Given the description of an element on the screen output the (x, y) to click on. 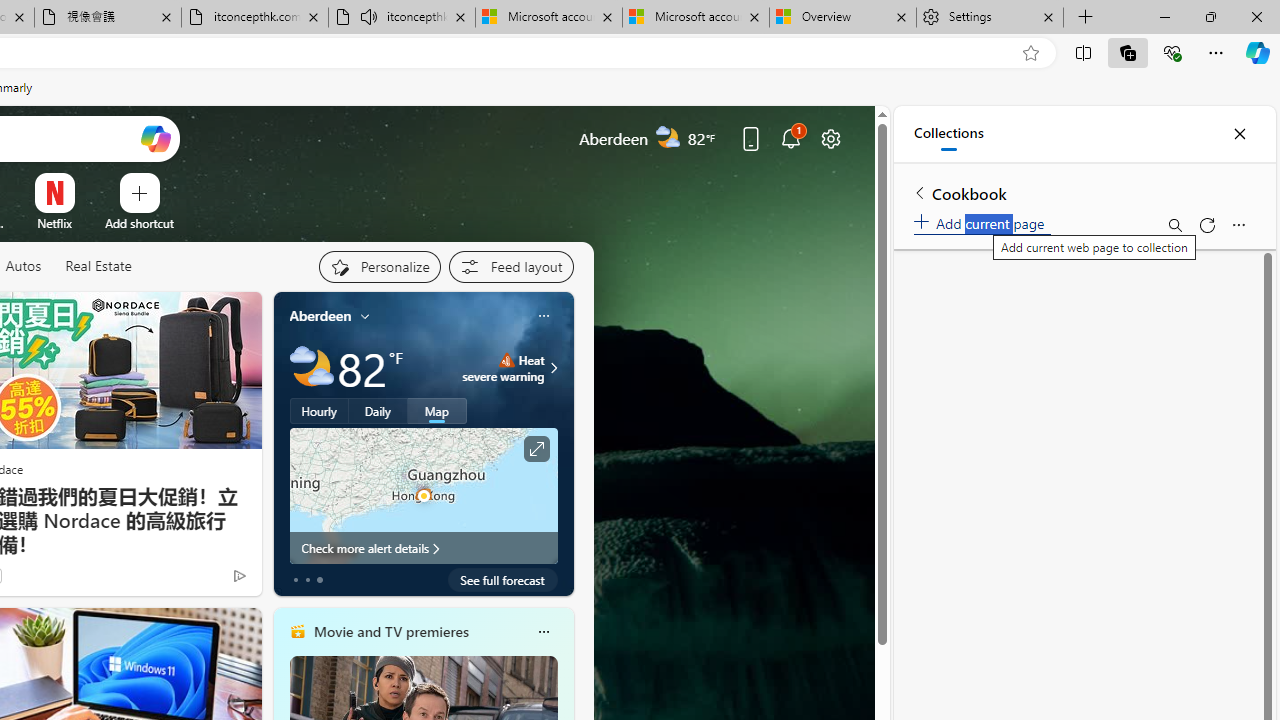
Click to see more information (536, 449)
Larger map  (423, 495)
tab-2 (319, 579)
Heat - Severe Heat severe warning (503, 367)
Check more alert details (423, 547)
Aberdeen (320, 315)
More options menu (1238, 224)
